Given the description of an element on the screen output the (x, y) to click on. 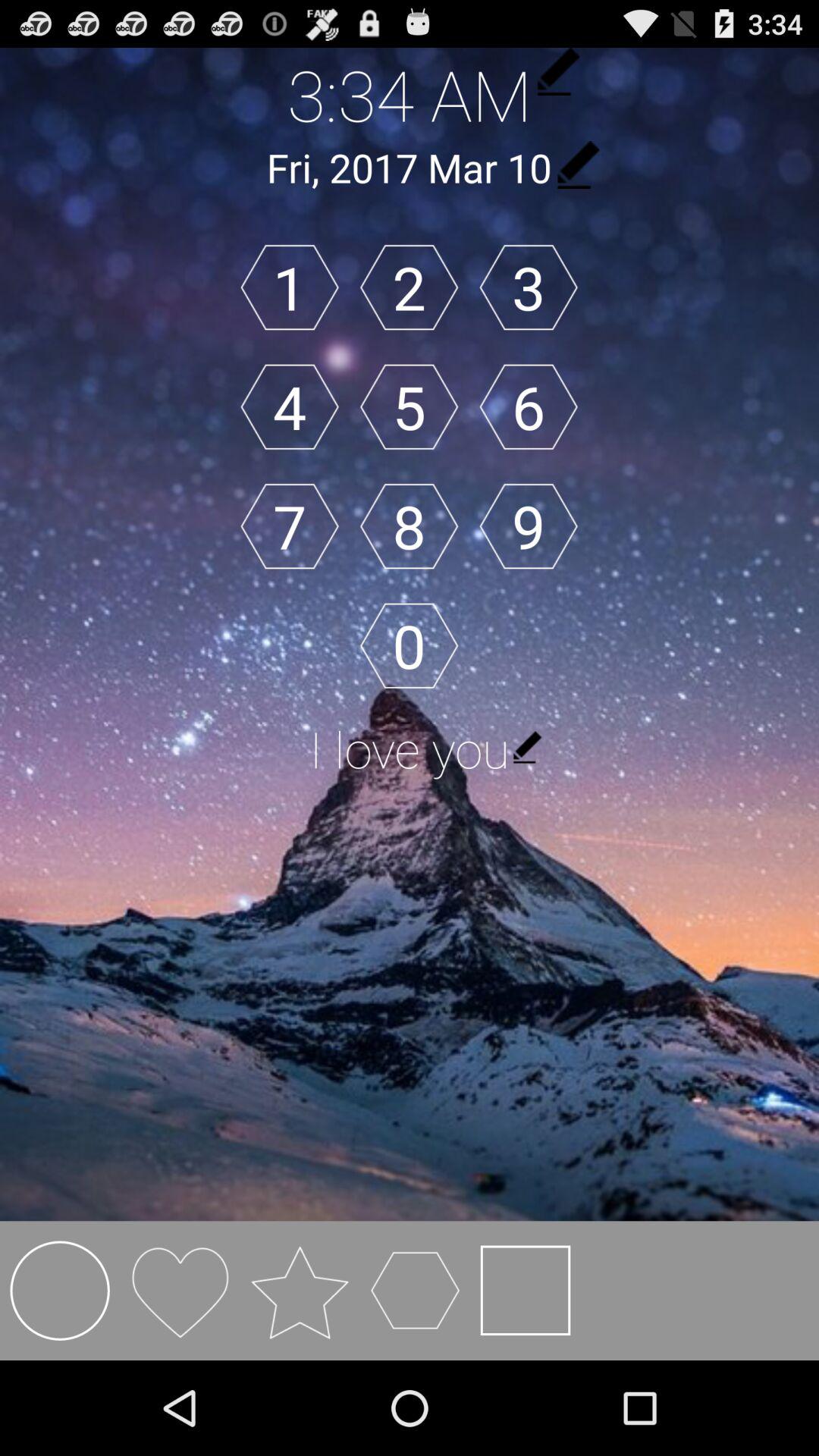
launch icon to the left of 6 (408, 406)
